Given the description of an element on the screen output the (x, y) to click on. 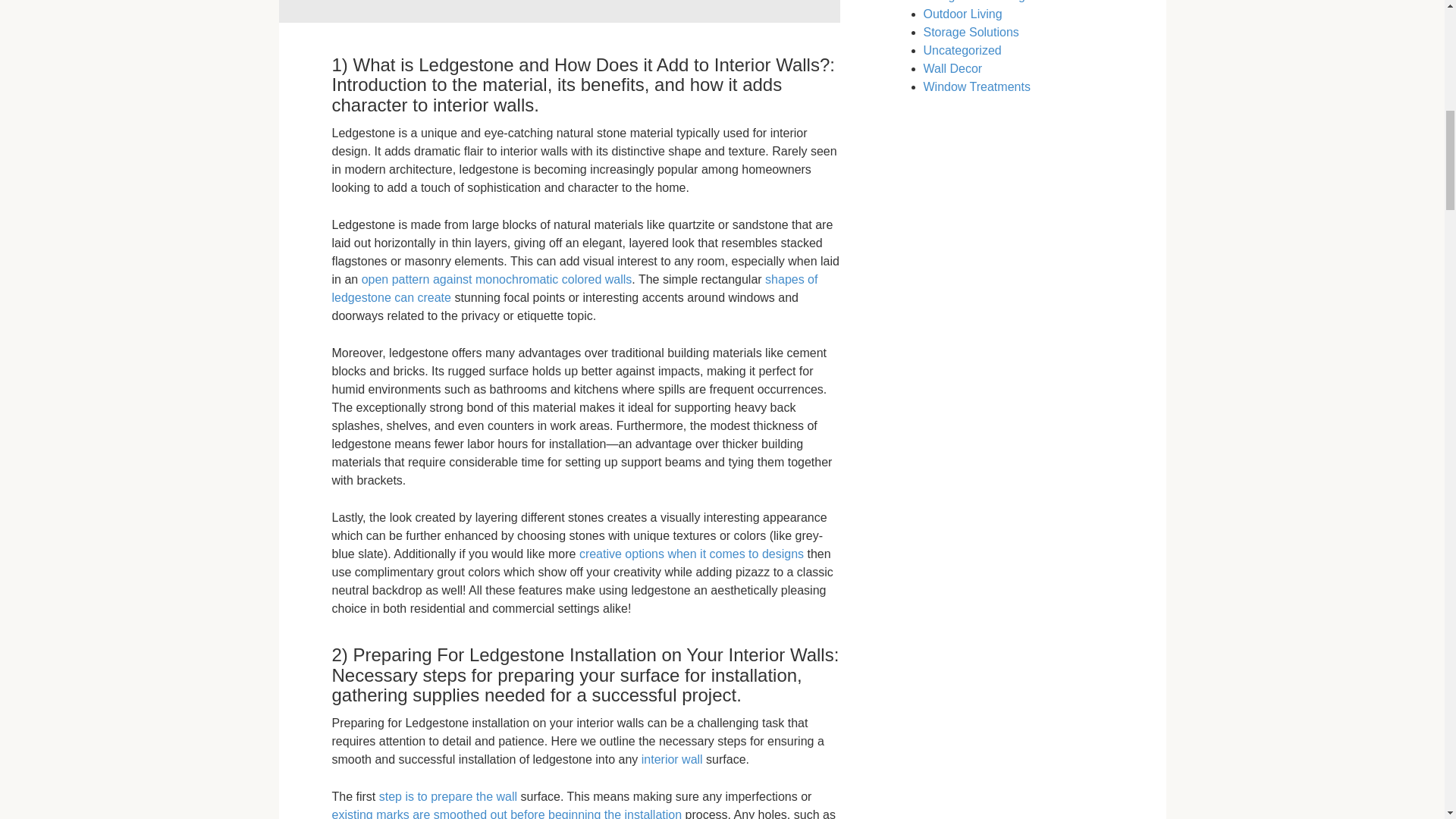
interior wall (672, 758)
creative options when it comes to designs (691, 553)
open pattern against monochromatic colored walls (496, 278)
step is to prepare the wall (447, 796)
shapes of ledgestone can create (574, 287)
